Given the description of an element on the screen output the (x, y) to click on. 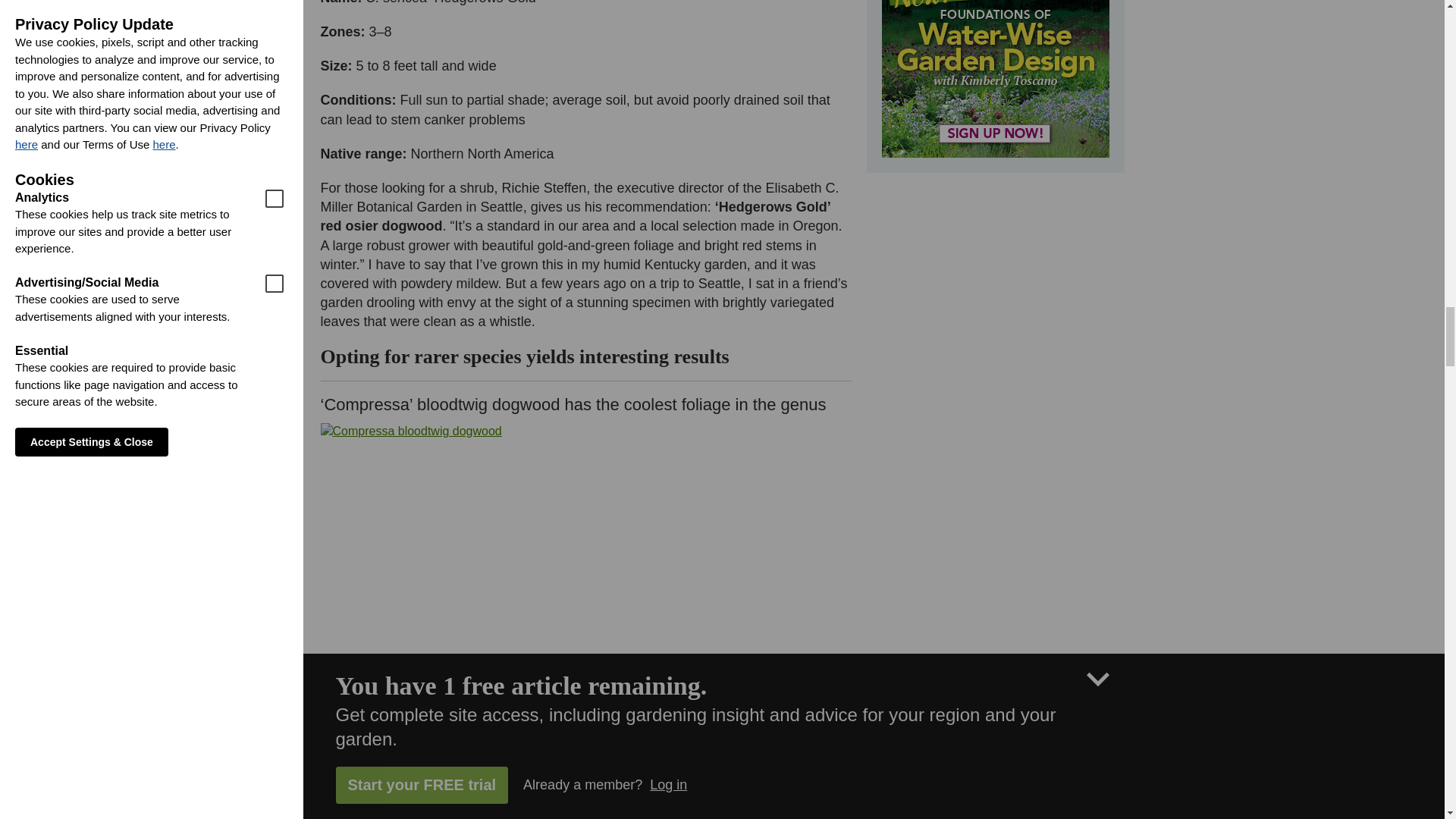
3rd party ad content (994, 79)
